Given the description of an element on the screen output the (x, y) to click on. 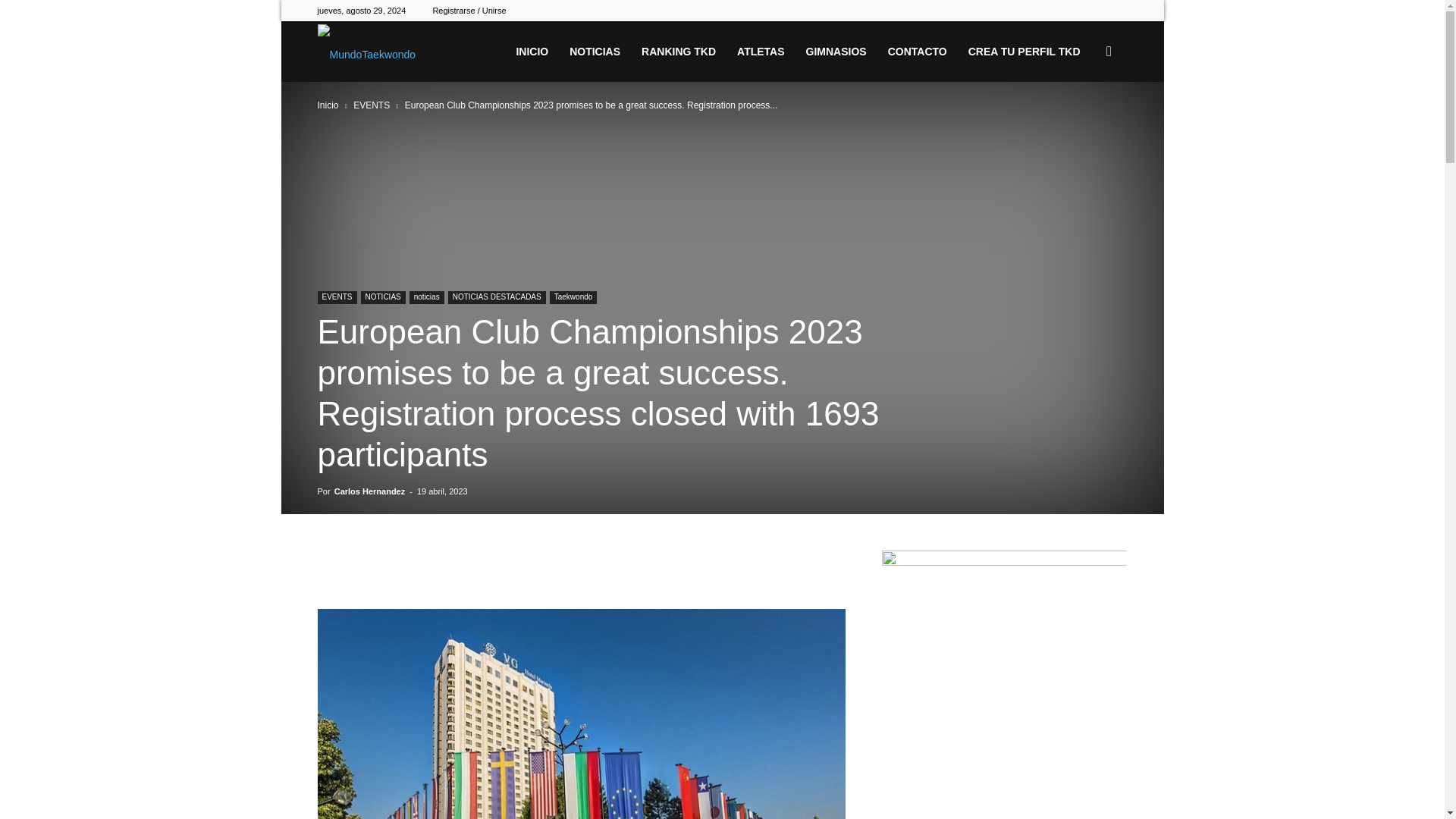
Youtube (1114, 10)
VKontakte (1090, 10)
MundoTaekwondo (365, 52)
Buscar (1085, 124)
Mundo Taekwondo (365, 51)
ATLETAS (760, 51)
NOTICIAS (594, 51)
RANKING TKD (678, 51)
Twitter (1040, 10)
Vimeo (1065, 10)
